Given the description of an element on the screen output the (x, y) to click on. 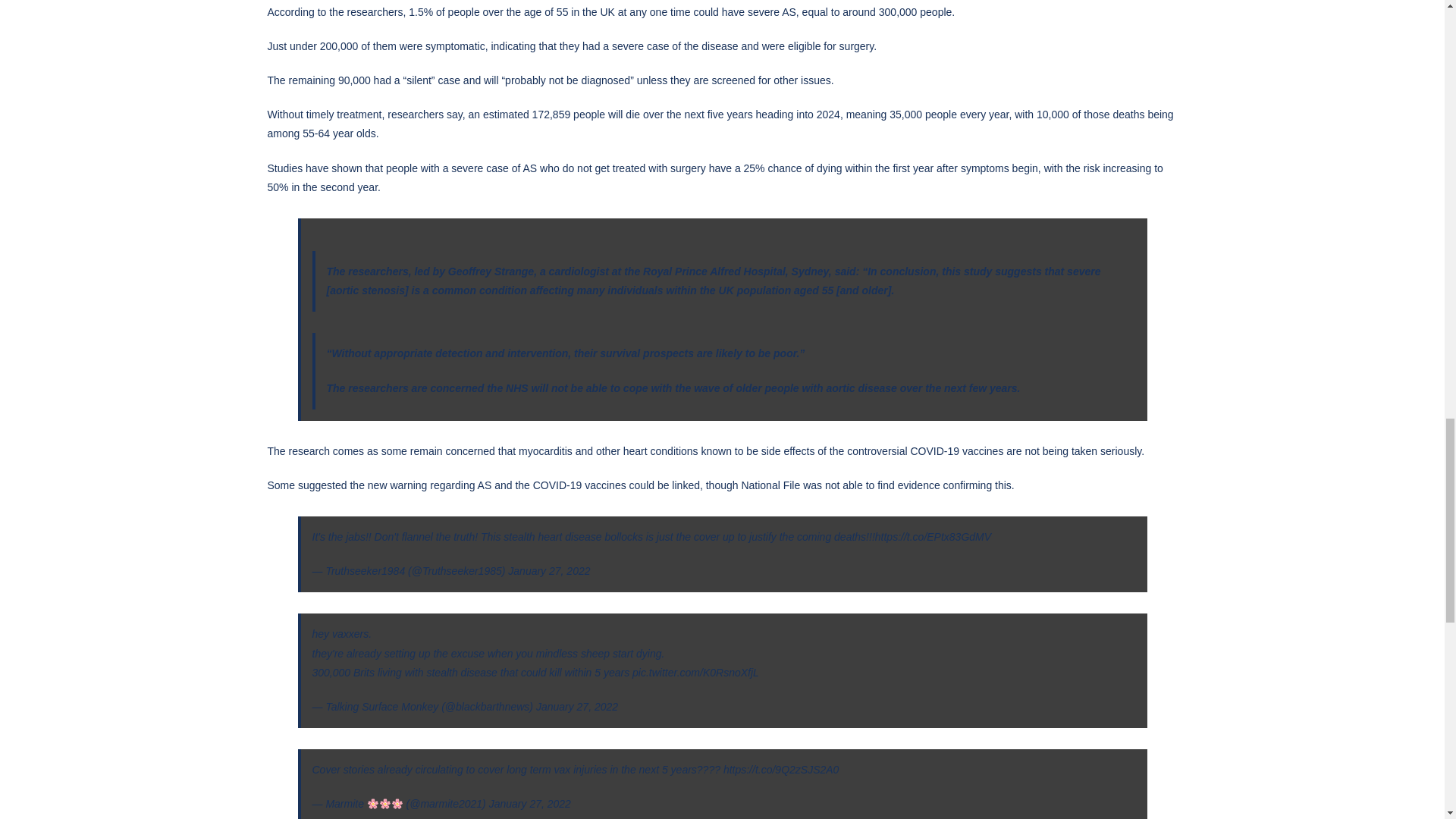
January 27, 2022 (576, 706)
January 27, 2022 (529, 803)
January 27, 2022 (548, 571)
